Given the description of an element on the screen output the (x, y) to click on. 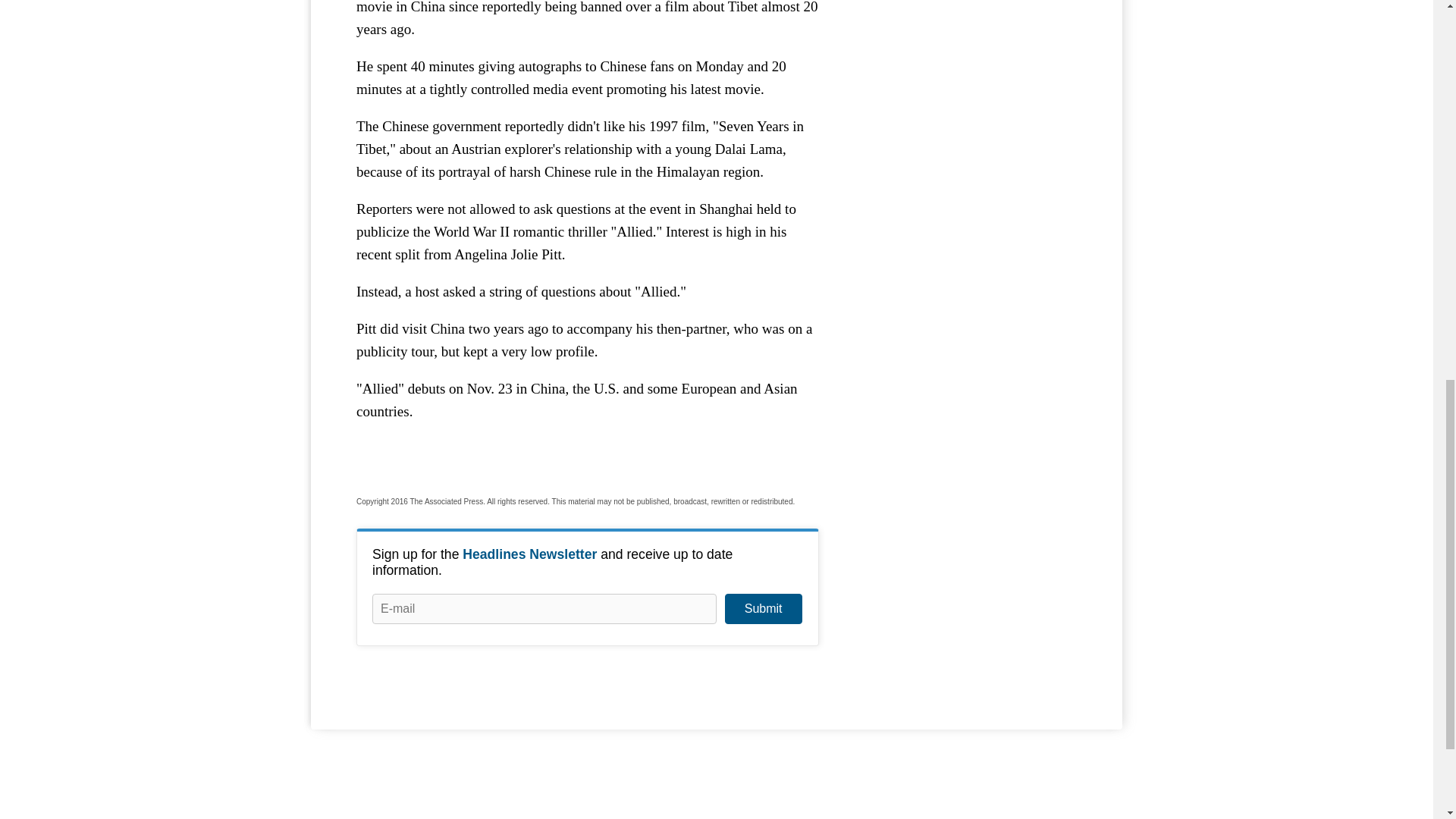
Submit (763, 608)
